Given the description of an element on the screen output the (x, y) to click on. 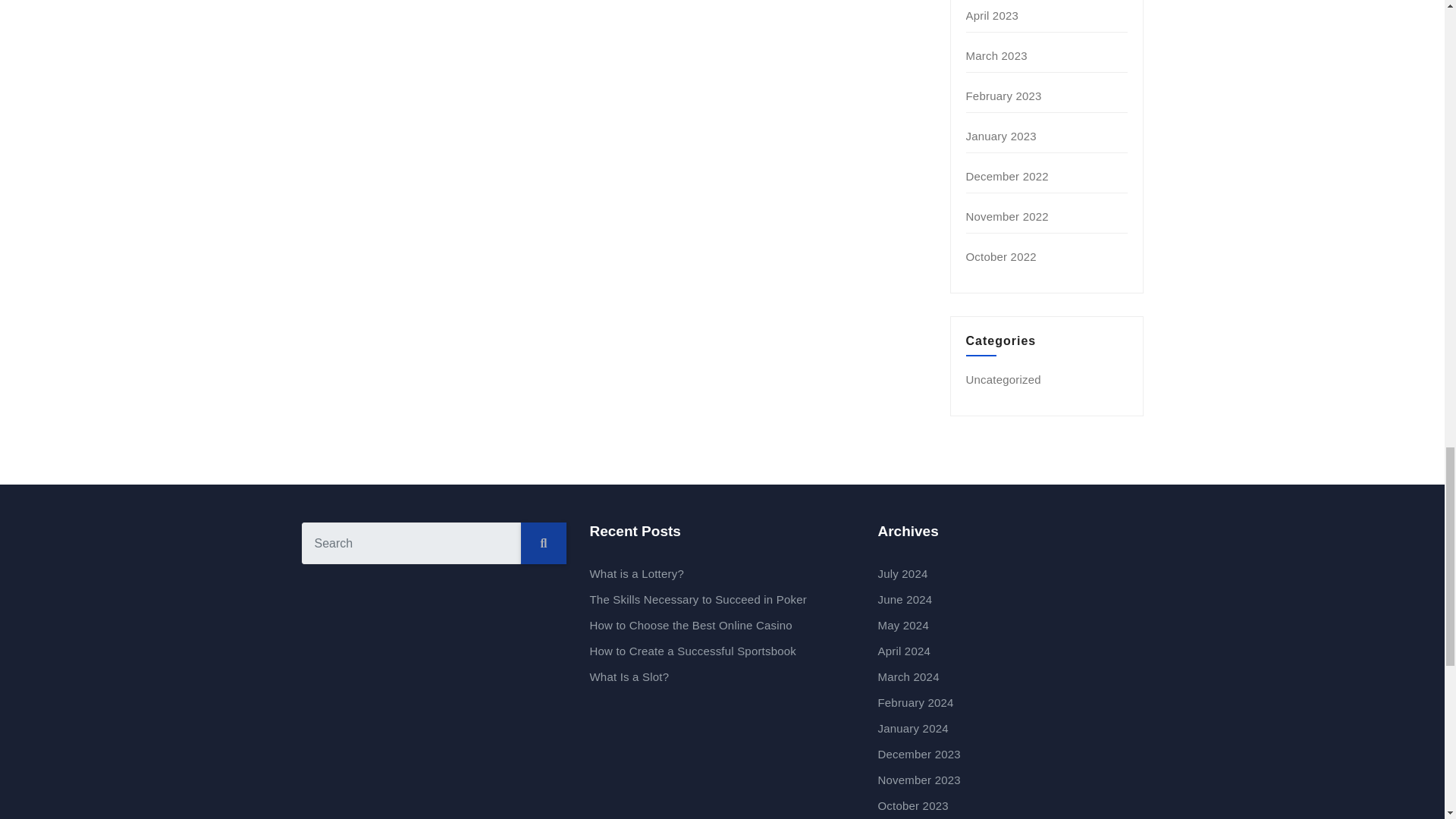
April 2023 (992, 15)
What is a Lottery? (636, 573)
October 2022 (1001, 256)
January 2023 (1001, 135)
February 2023 (1004, 95)
Uncategorized (1003, 379)
November 2022 (1007, 215)
The Skills Necessary to Succeed in Poker (697, 599)
December 2022 (1007, 175)
March 2023 (996, 55)
How to Choose the Best Online Casino (690, 625)
